Given the description of an element on the screen output the (x, y) to click on. 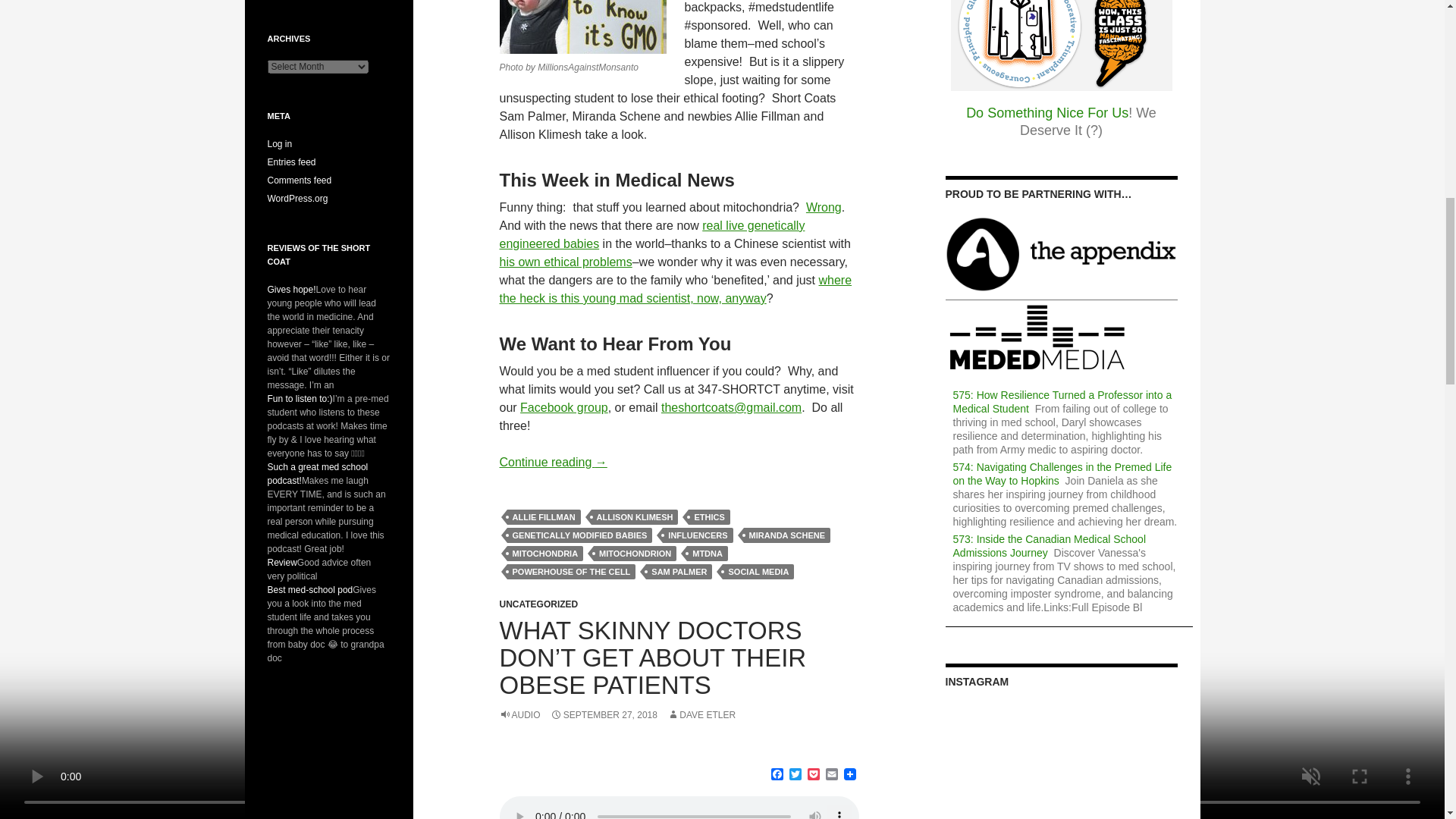
Facebook (776, 775)
GENETICALLY MODIFIED BABIES (579, 534)
INFLUENCERS (697, 534)
where the heck is this young mad scientist, now, anyway (675, 288)
Wrong (823, 206)
Twitter (794, 775)
ALLISON KLIMESH (634, 516)
his own ethical problems (565, 261)
Pocket (812, 775)
Email (831, 775)
real live genetically engineered babies (652, 234)
ALLIE FILLMAN (542, 516)
Facebook group (563, 407)
ETHICS (708, 516)
